Given the description of an element on the screen output the (x, y) to click on. 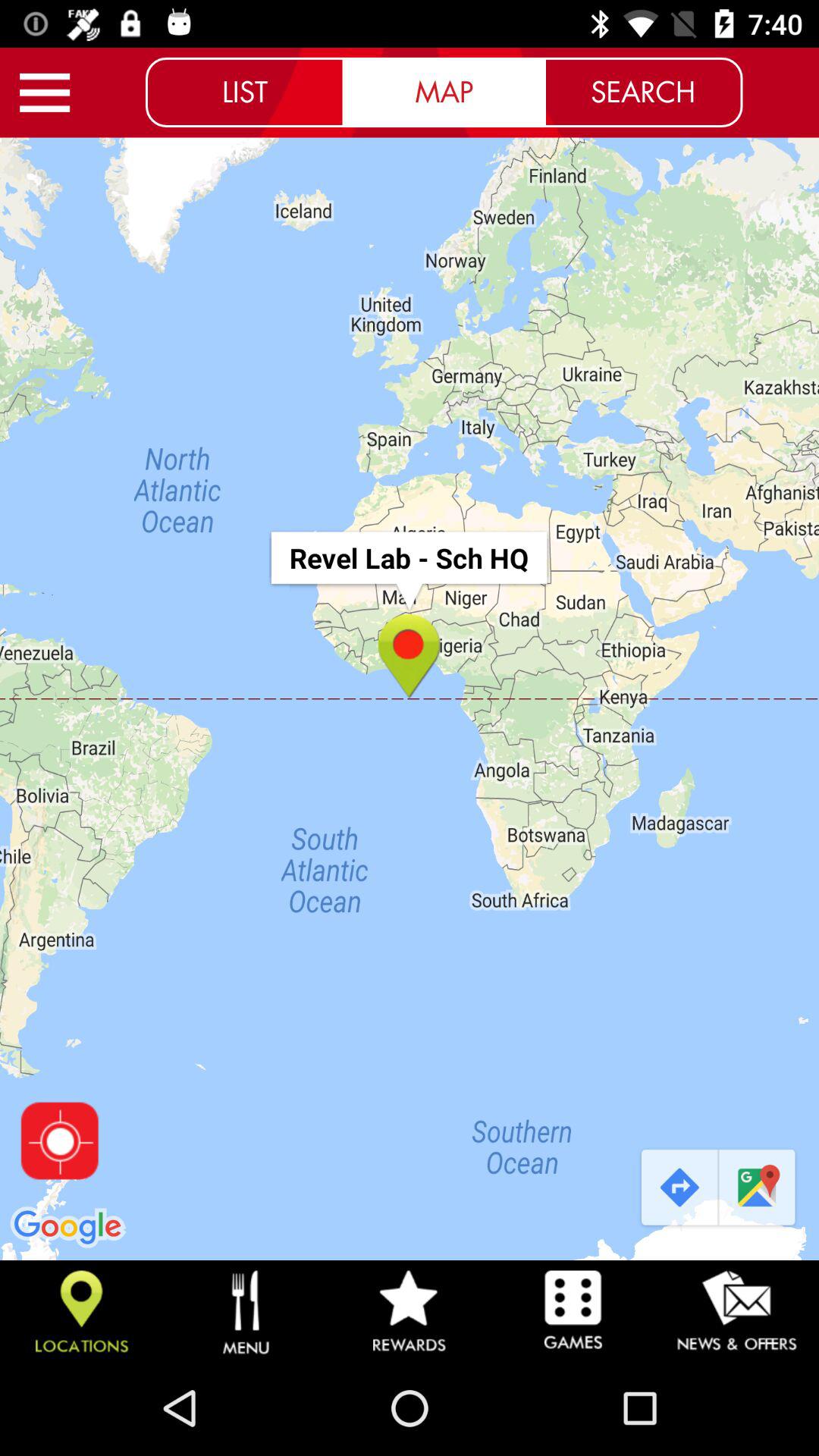
open icon below search icon (758, 1188)
